Given the description of an element on the screen output the (x, y) to click on. 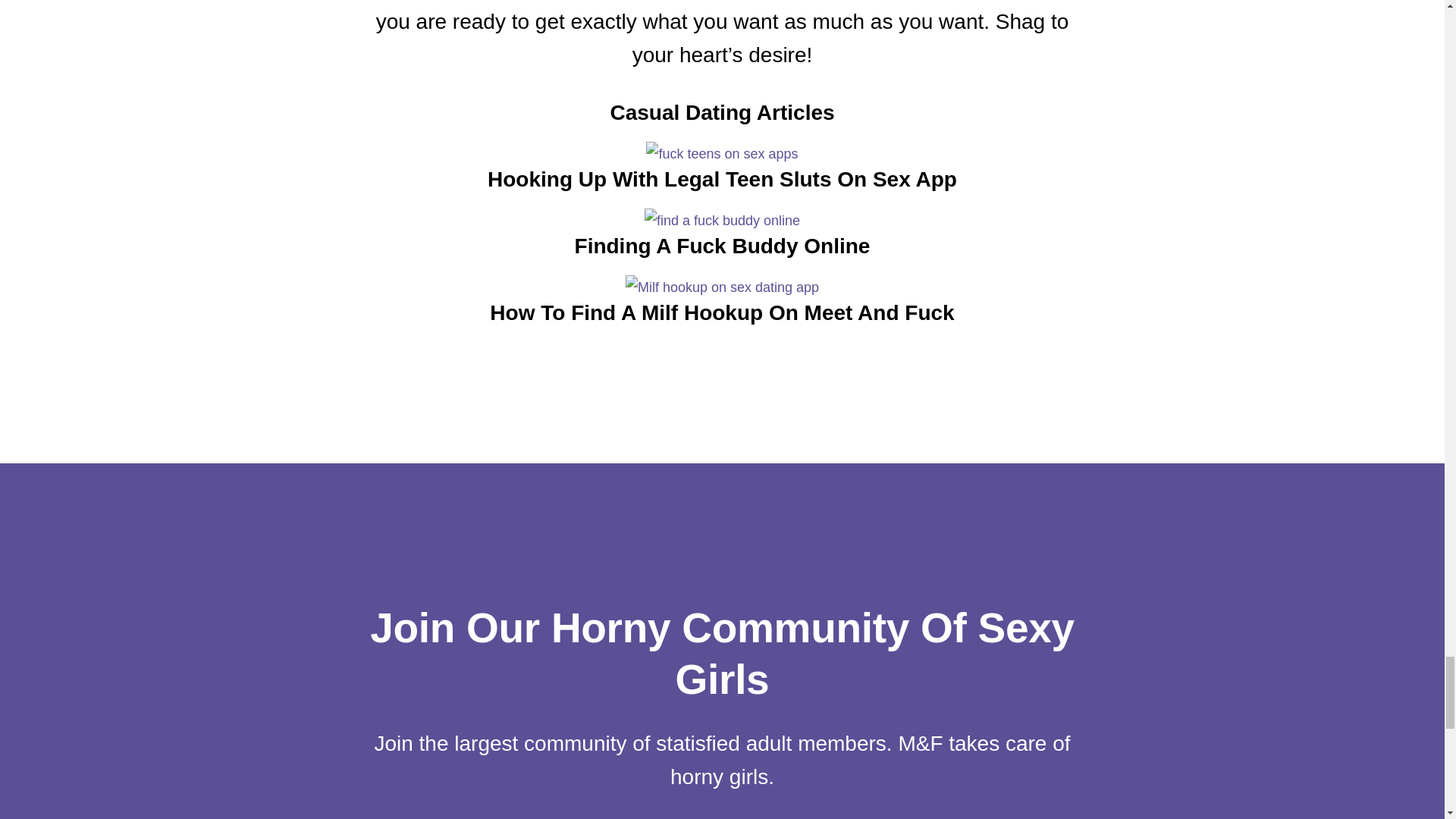
Hooking Up With Legal Teen Sluts On Sex App (721, 187)
Finding A Fuck Buddy Online (721, 253)
How To Find A Milf Hookup On Meet And Fuck (721, 303)
